Given the description of an element on the screen output the (x, y) to click on. 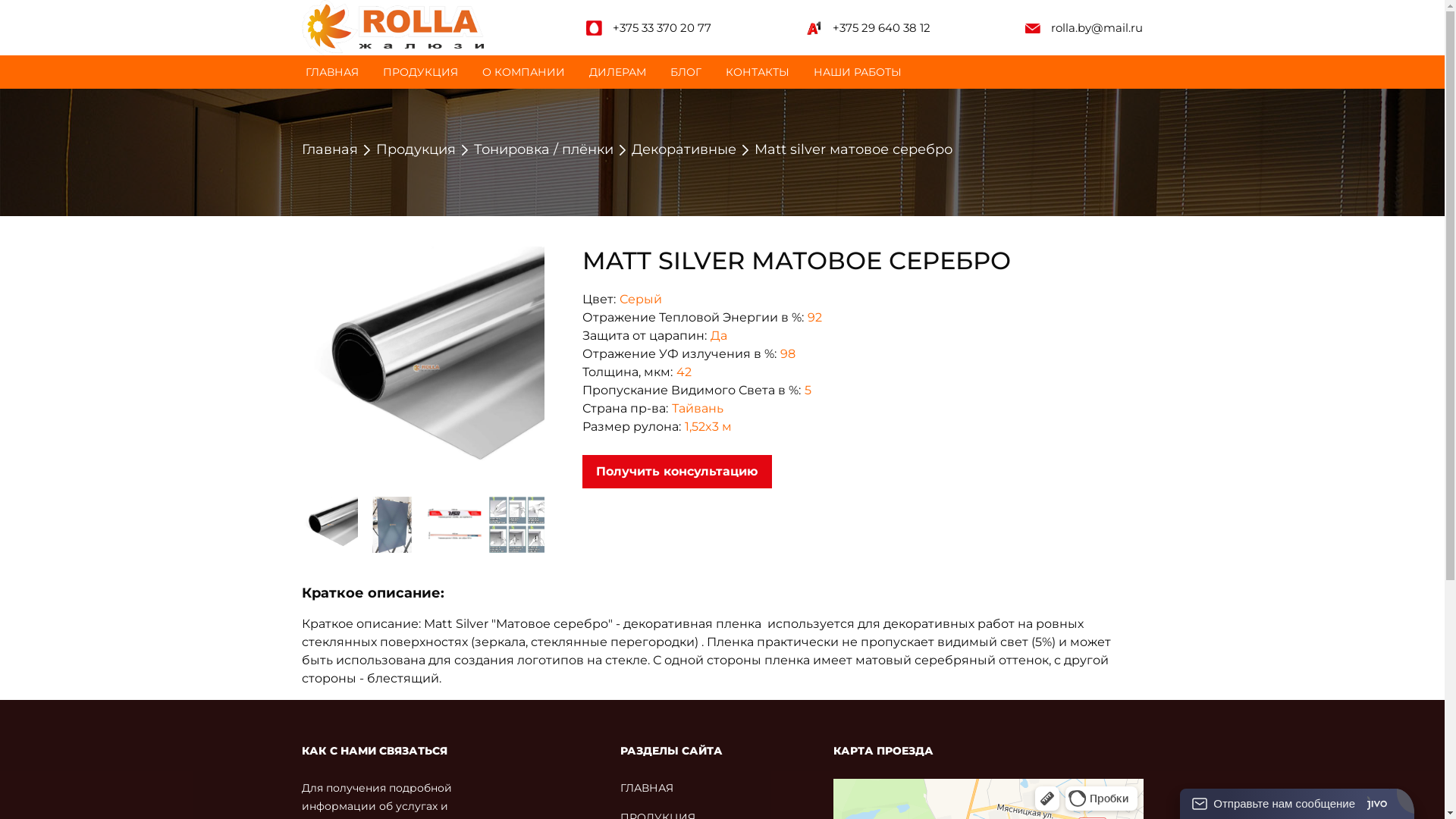
+375 29 640 38 12 Element type: text (881, 26)
+375 33 370 20 77 Element type: text (661, 26)
rolla.by@mail.ru Element type: text (1096, 26)
